Given the description of an element on the screen output the (x, y) to click on. 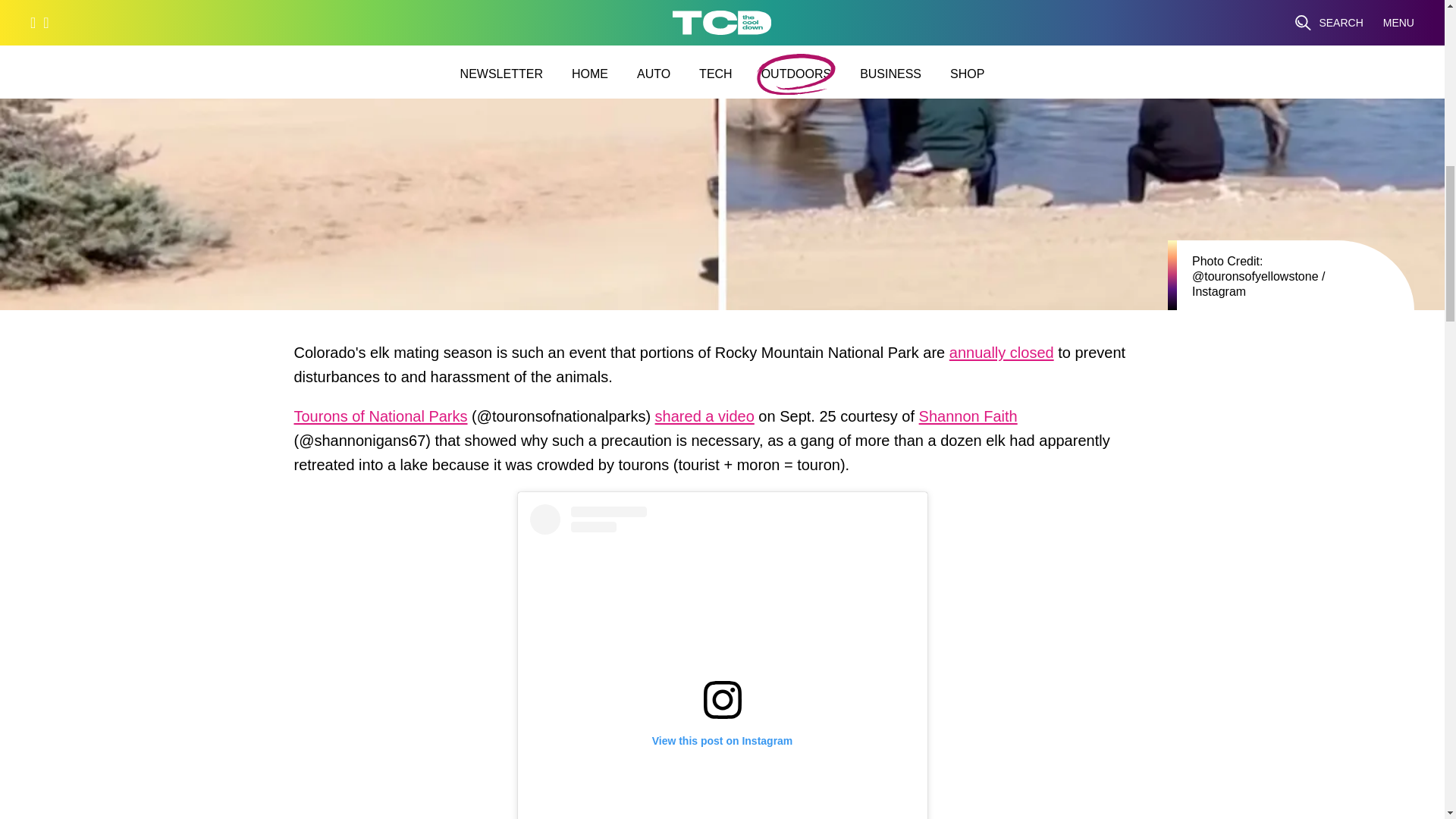
View this post on Instagram (721, 661)
annually closed (1001, 355)
Tourons of National Parks (380, 419)
shared a video (704, 419)
Shannon Faith (967, 419)
